Given the description of an element on the screen output the (x, y) to click on. 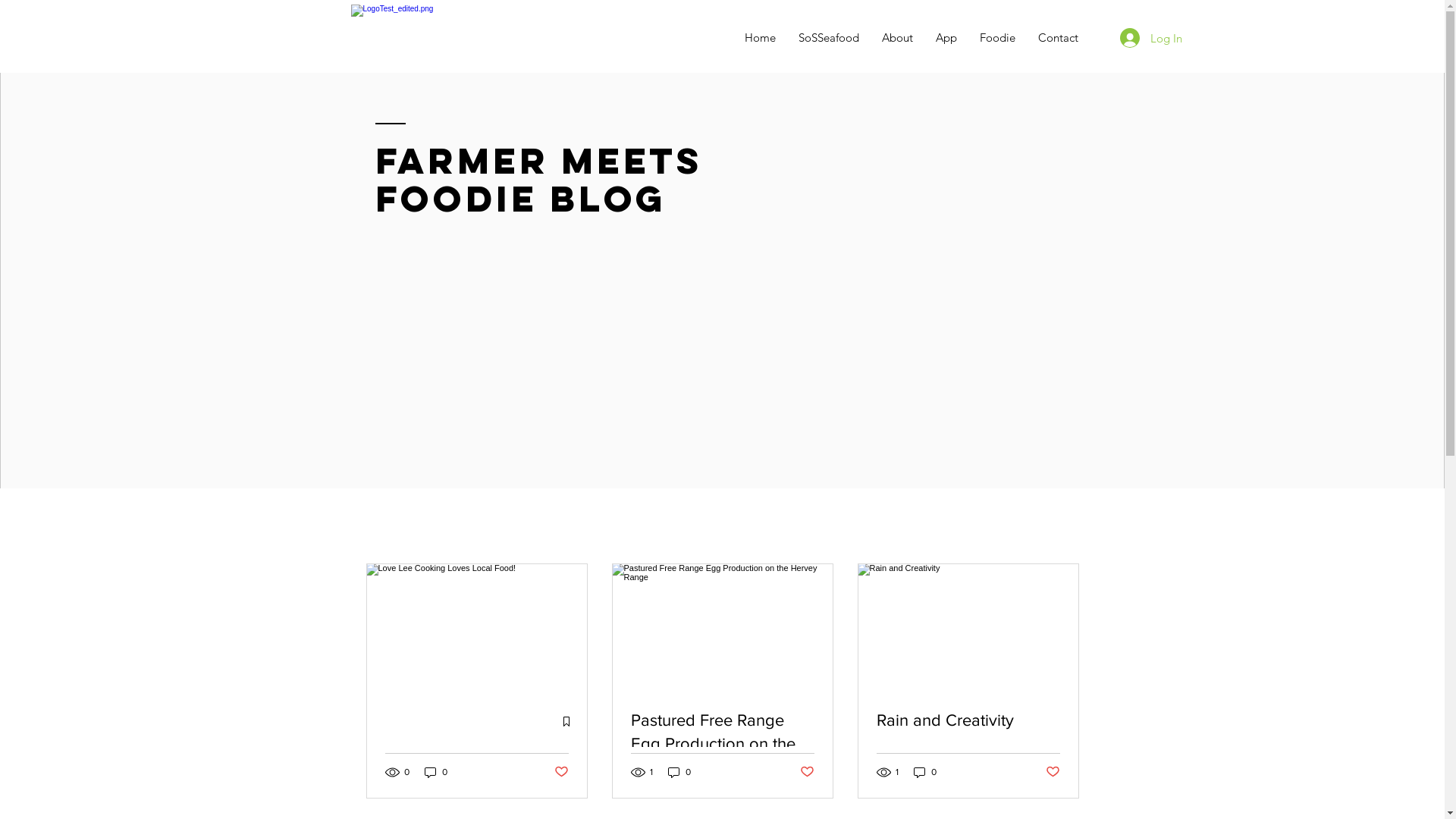
Rain and Creativity Element type: text (968, 720)
Love Lee Cooking Loves Local Food! Element type: text (476, 766)
Log In Element type: text (1150, 37)
Pastured Free Range Egg Production on the Hervey Range Element type: text (722, 732)
Post not marked as liked Element type: text (806, 772)
App Element type: text (945, 37)
About Element type: text (897, 37)
0 Element type: text (435, 772)
Post not marked as liked Element type: text (1051, 772)
Post not marked as liked Element type: text (560, 772)
Home Element type: text (759, 37)
0 Element type: text (924, 772)
0 Element type: text (678, 772)
SoSSeafood Element type: text (828, 37)
Contact Element type: text (1057, 37)
Foodie Element type: text (996, 37)
